Given the description of an element on the screen output the (x, y) to click on. 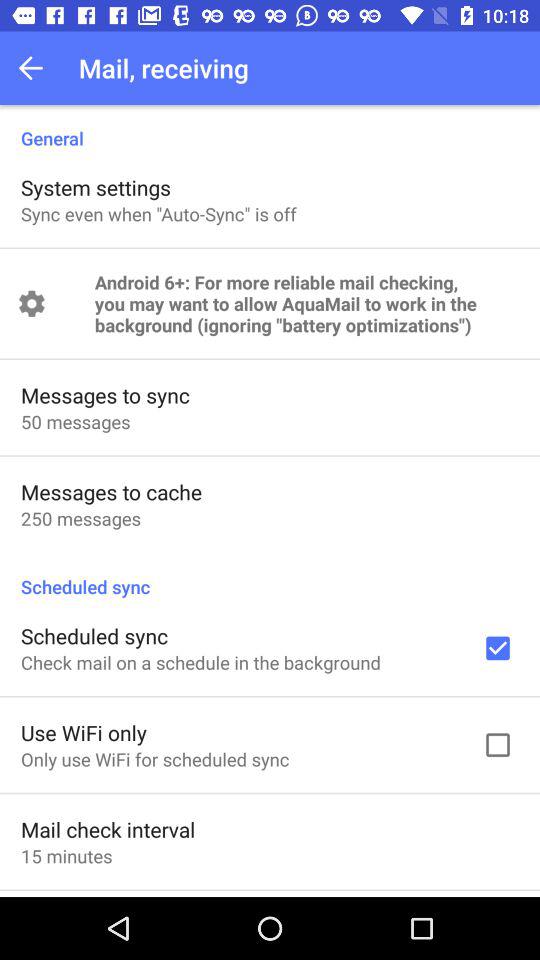
swipe to 250 messages (80, 518)
